Given the description of an element on the screen output the (x, y) to click on. 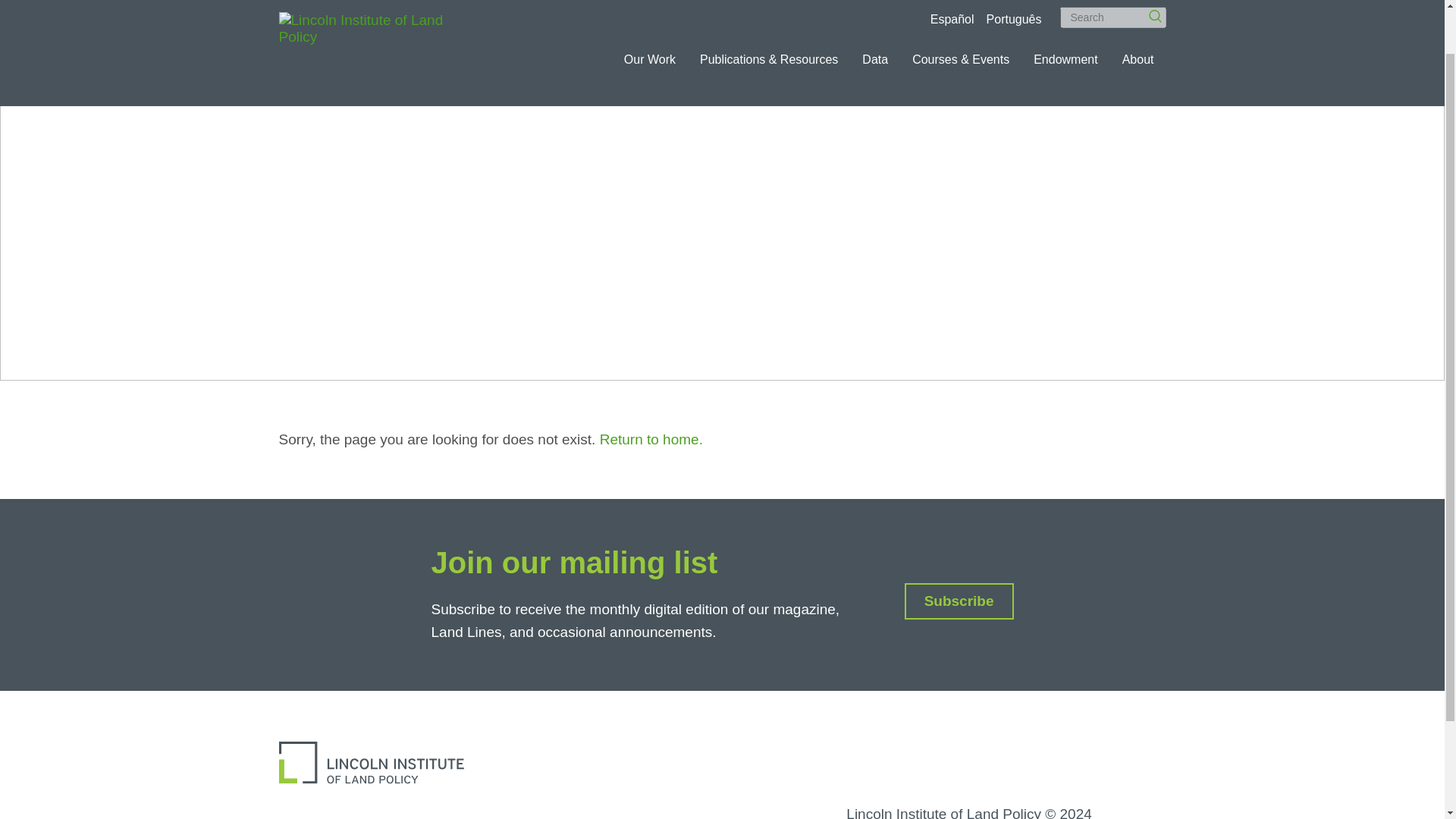
Our Work (649, 6)
Data (874, 6)
